Given the description of an element on the screen output the (x, y) to click on. 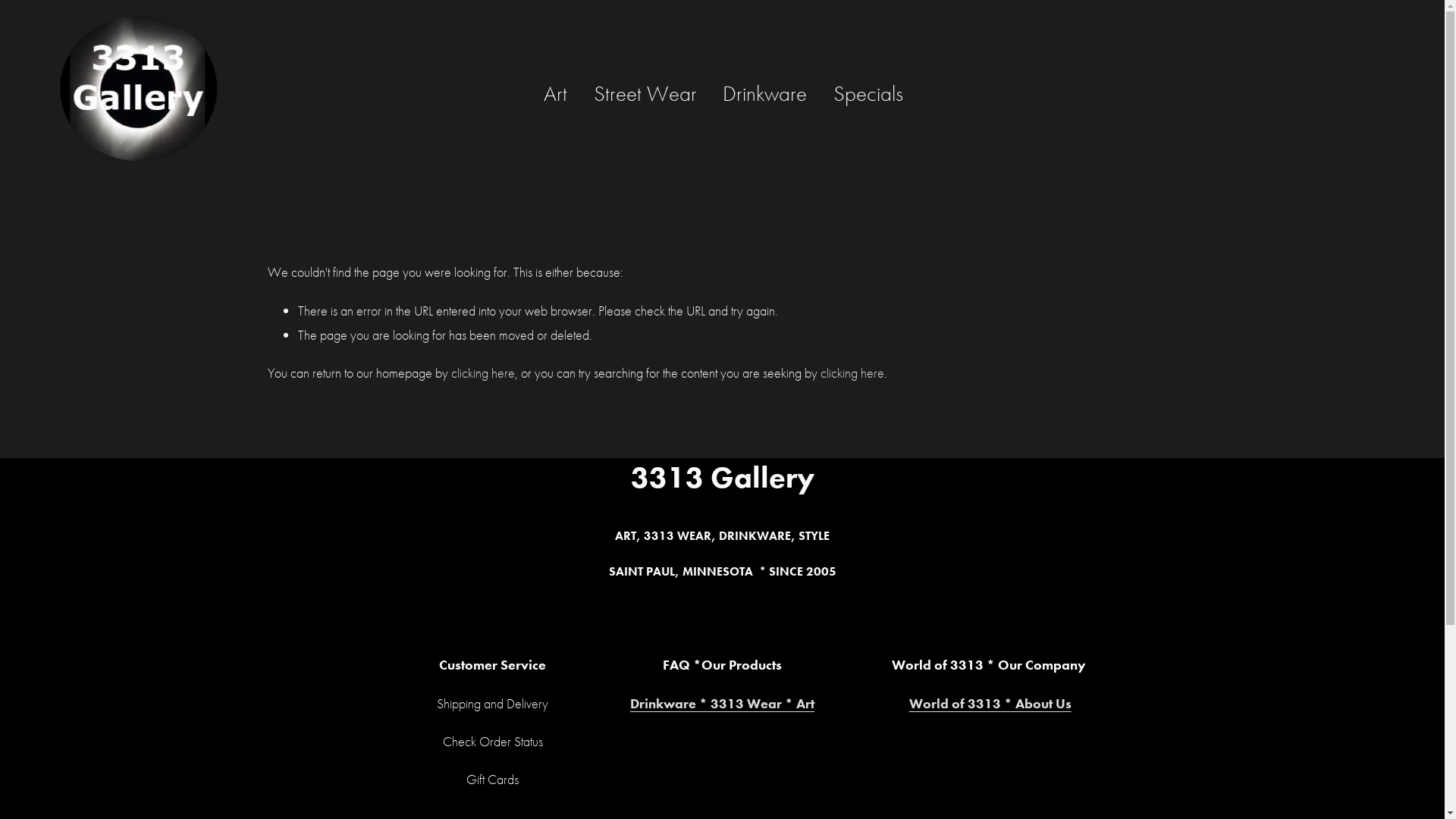
Street Wear Element type: text (644, 94)
clicking here Element type: text (852, 372)
World of 3313 * About Us Element type: text (990, 703)
Art Element type: text (555, 94)
Drinkware * 3313 Wear * Art Element type: text (722, 703)
Specials Element type: text (868, 94)
Drinkware Element type: text (764, 94)
clicking here Element type: text (482, 372)
